Given the description of an element on the screen output the (x, y) to click on. 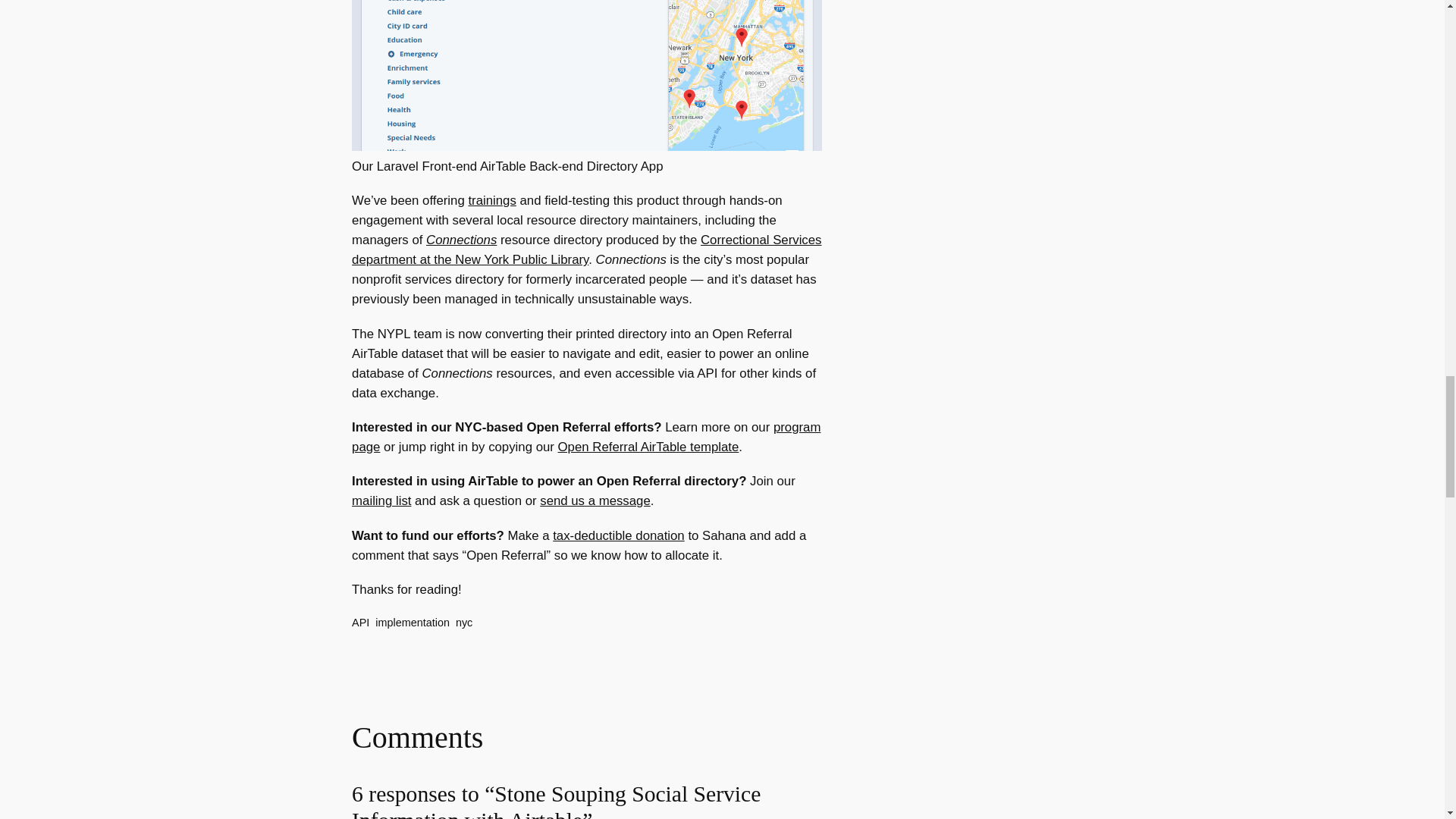
Connections (461, 239)
trainings (491, 200)
